Given the description of an element on the screen output the (x, y) to click on. 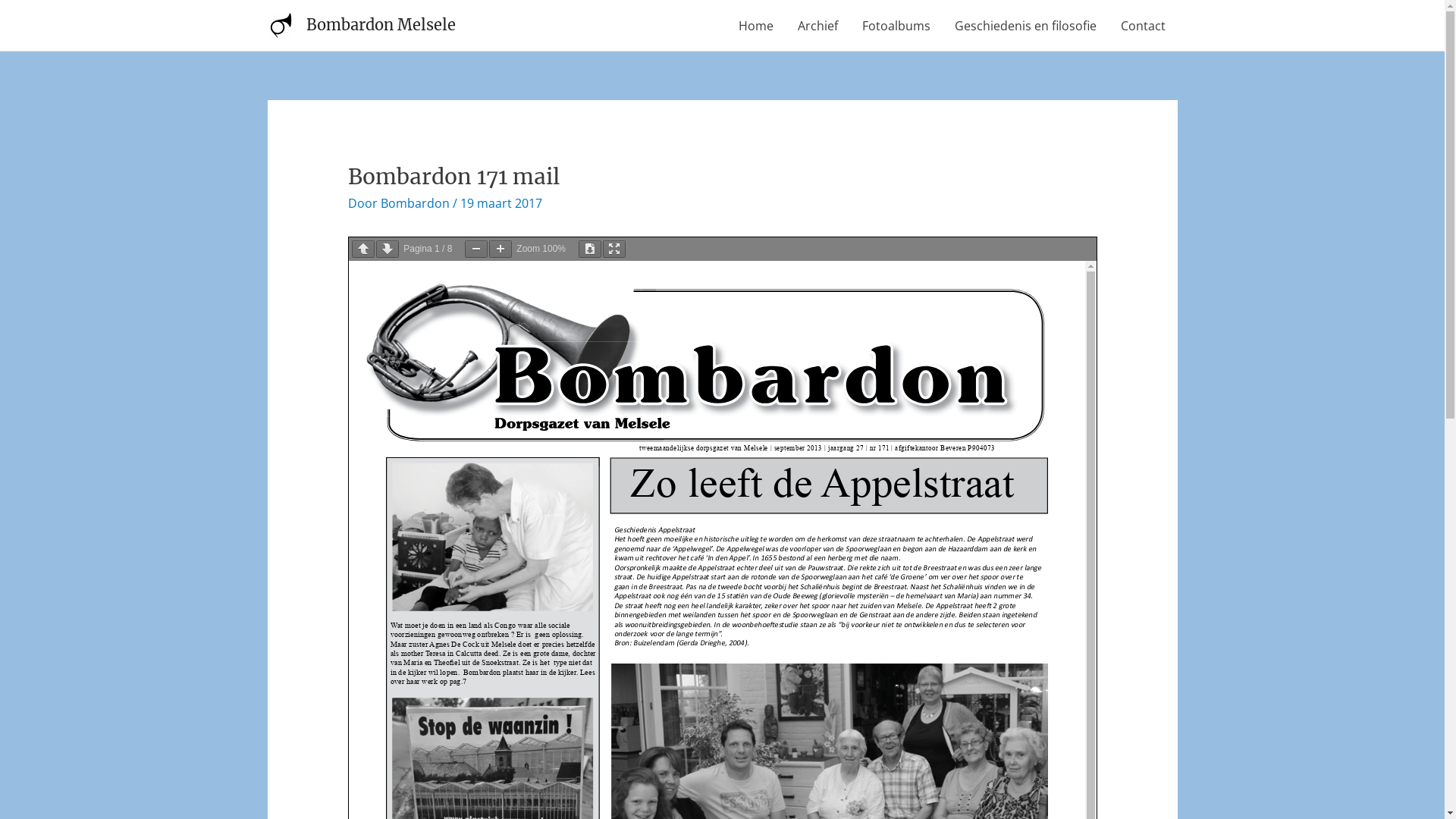
Volledig scherm Element type: hover (613, 248)
Fotoalbums Element type: text (895, 25)
Zoom In Element type: hover (500, 248)
Bombardon Element type: text (416, 202)
Geschiedenis en filosofie Element type: text (1024, 25)
Volgende pagina Element type: hover (387, 248)
Contact Element type: text (1142, 25)
Home Element type: text (755, 25)
Vorige pagina Element type: hover (362, 248)
Archief Element type: text (817, 25)
Bombardon Melsele Element type: text (380, 24)
Zoom Uit Element type: hover (475, 248)
Download PDF Element type: hover (589, 248)
